Given the description of an element on the screen output the (x, y) to click on. 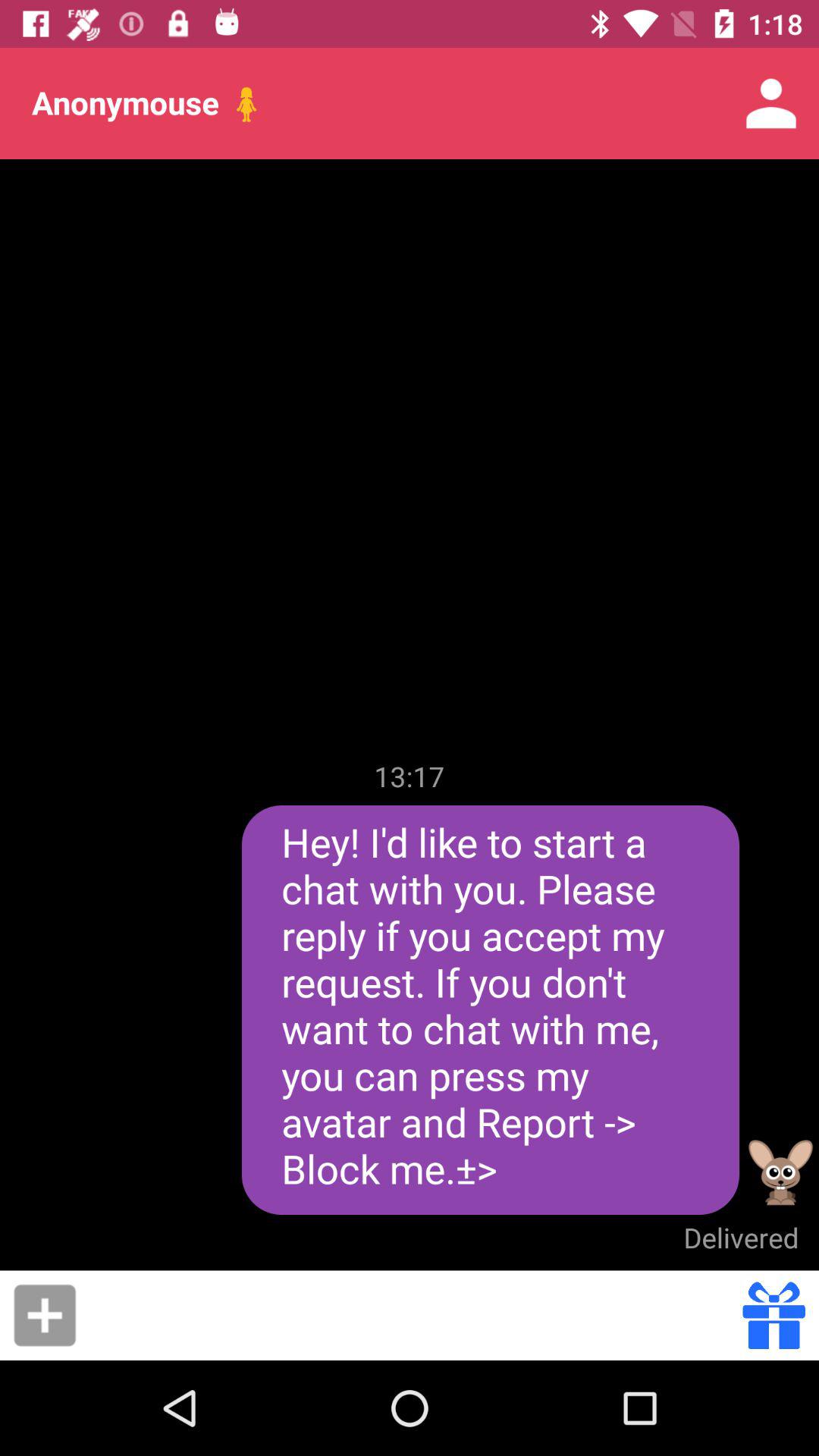
turn off icon below hey i d item (741, 1237)
